Given the description of an element on the screen output the (x, y) to click on. 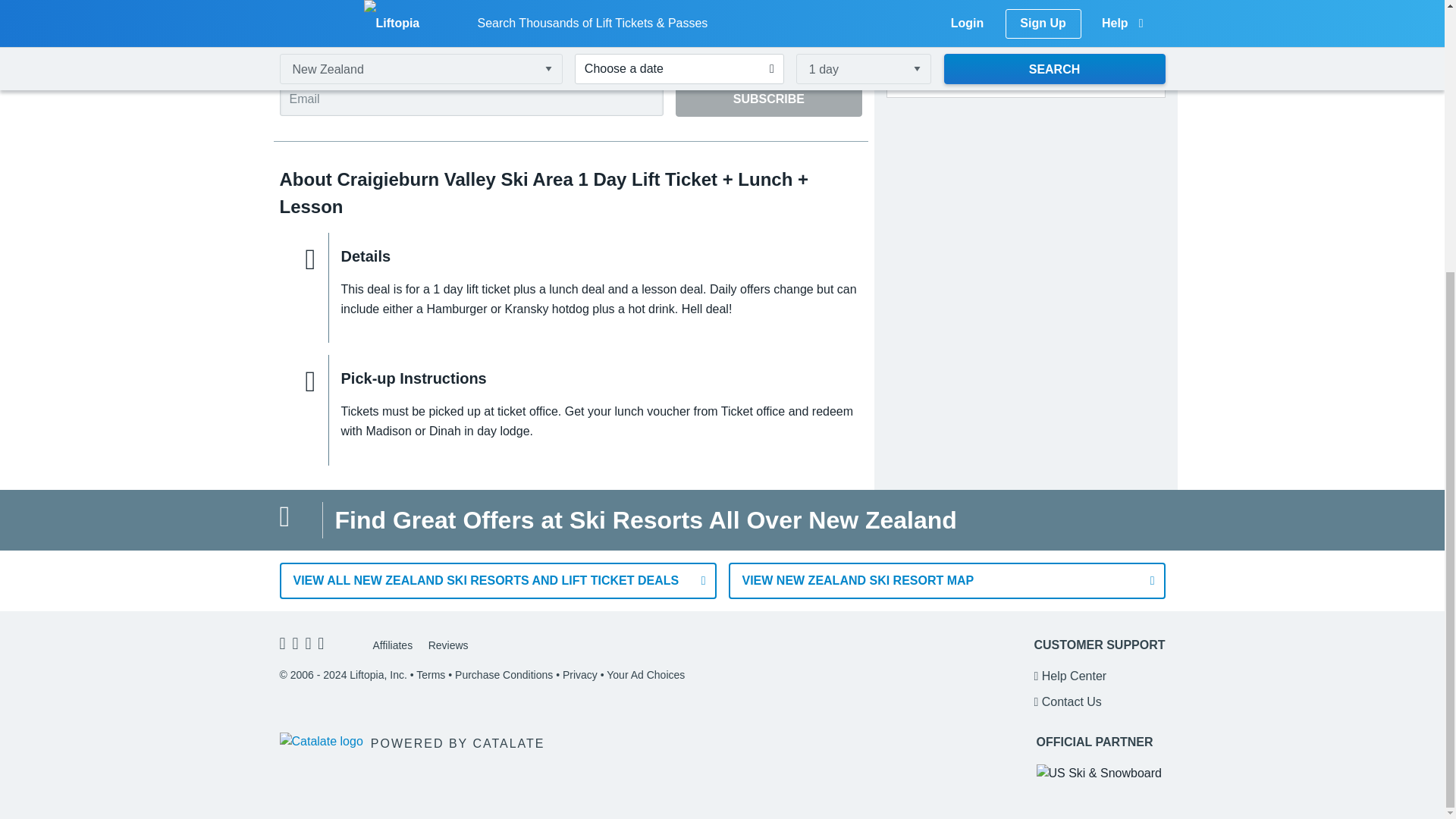
Affiliates (392, 645)
VIEW ALL NEW ZEALAND SKI RESORTS AND LIFT TICKET DEALS (497, 580)
on (283, 58)
SUBSCRIBE (768, 99)
VIEW NEW ZEALAND SKI RESORT MAP (946, 580)
SEARCH (1026, 67)
Purchase Conditions (503, 674)
Help Center (1069, 676)
Contact Us (1066, 701)
Reviews (448, 645)
POWERED BY CATALATE (411, 741)
Privacy (579, 674)
Terms (430, 674)
Your Ad Choices (645, 674)
